Given the description of an element on the screen output the (x, y) to click on. 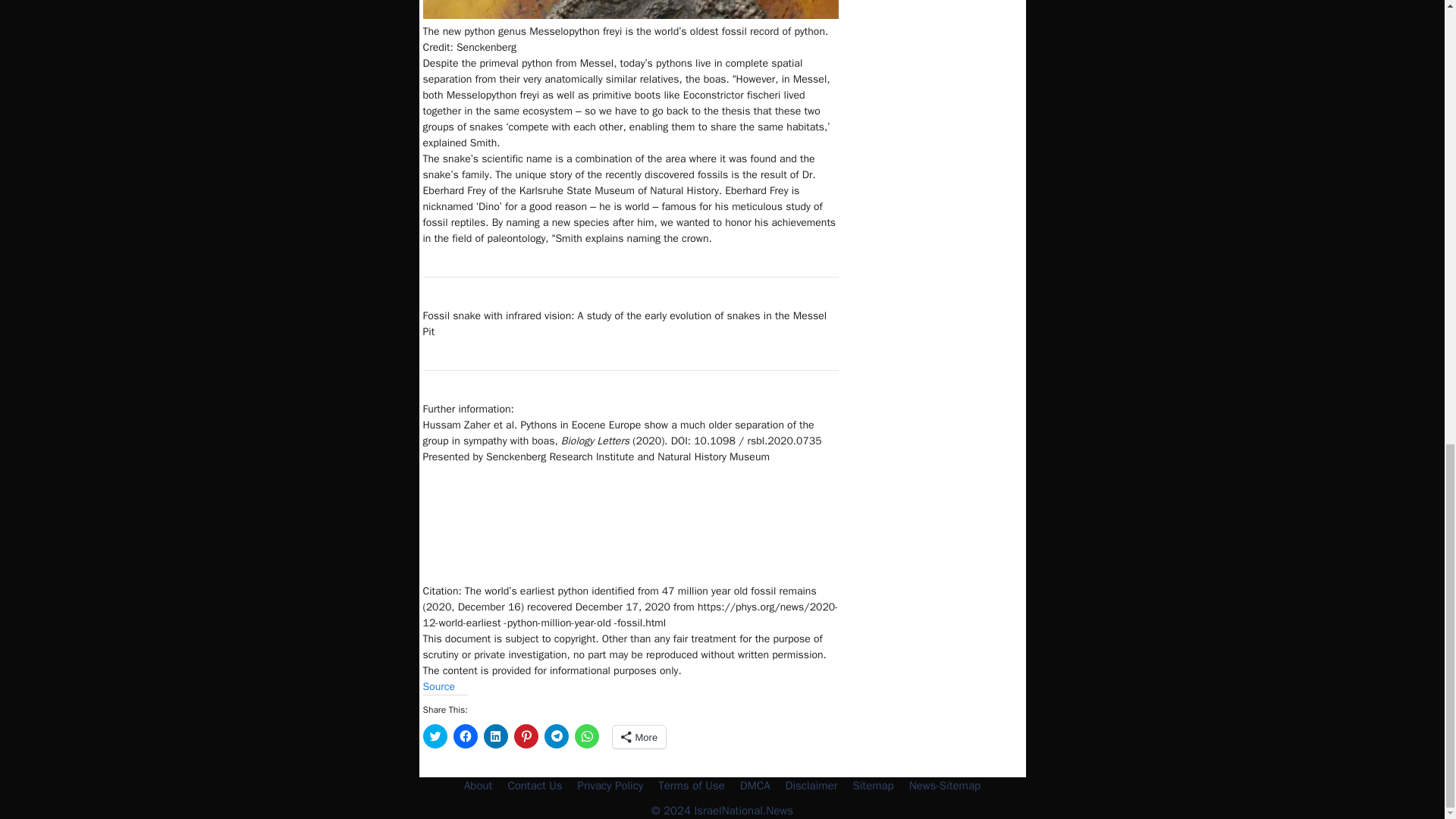
Click to share on WhatsApp (586, 735)
Source (439, 686)
Click to share on Pinterest (525, 735)
Click to share on Twitter (434, 735)
Click to share on LinkedIn (495, 735)
Click to share on Telegram (556, 735)
More (639, 736)
Click to share on Facebook (464, 735)
